Given the description of an element on the screen output the (x, y) to click on. 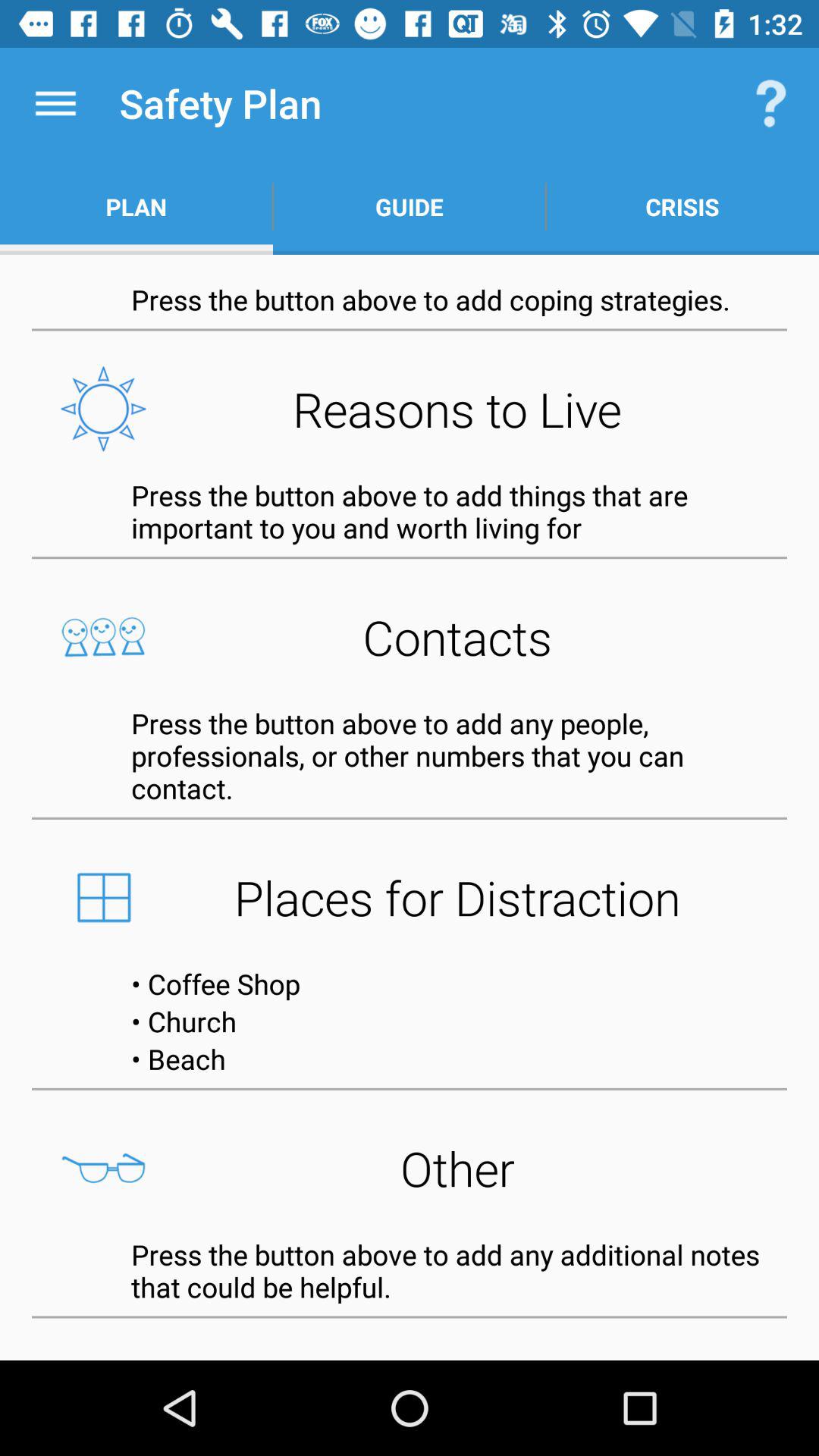
tap item next to the plan item (409, 206)
